Given the description of an element on the screen output the (x, y) to click on. 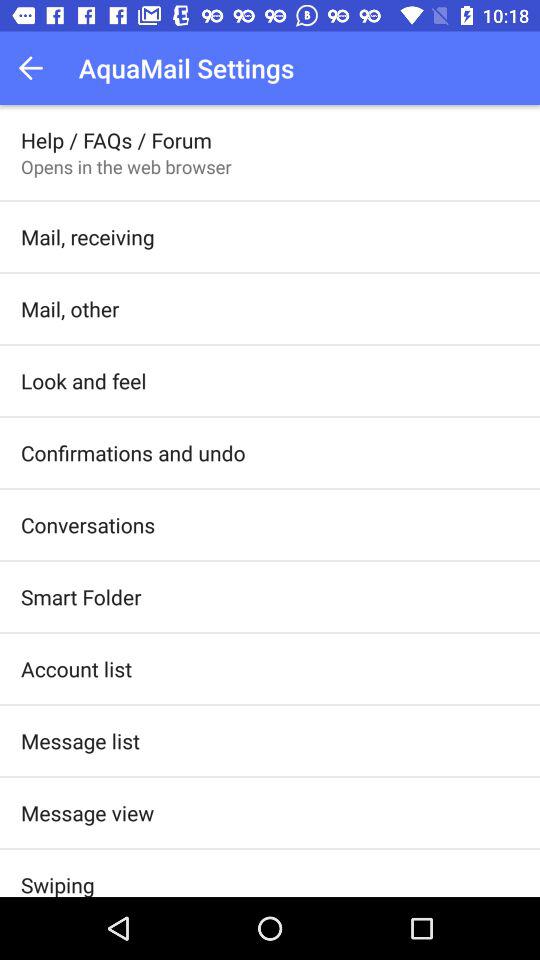
choose the icon below help / faqs / forum item (126, 166)
